Given the description of an element on the screen output the (x, y) to click on. 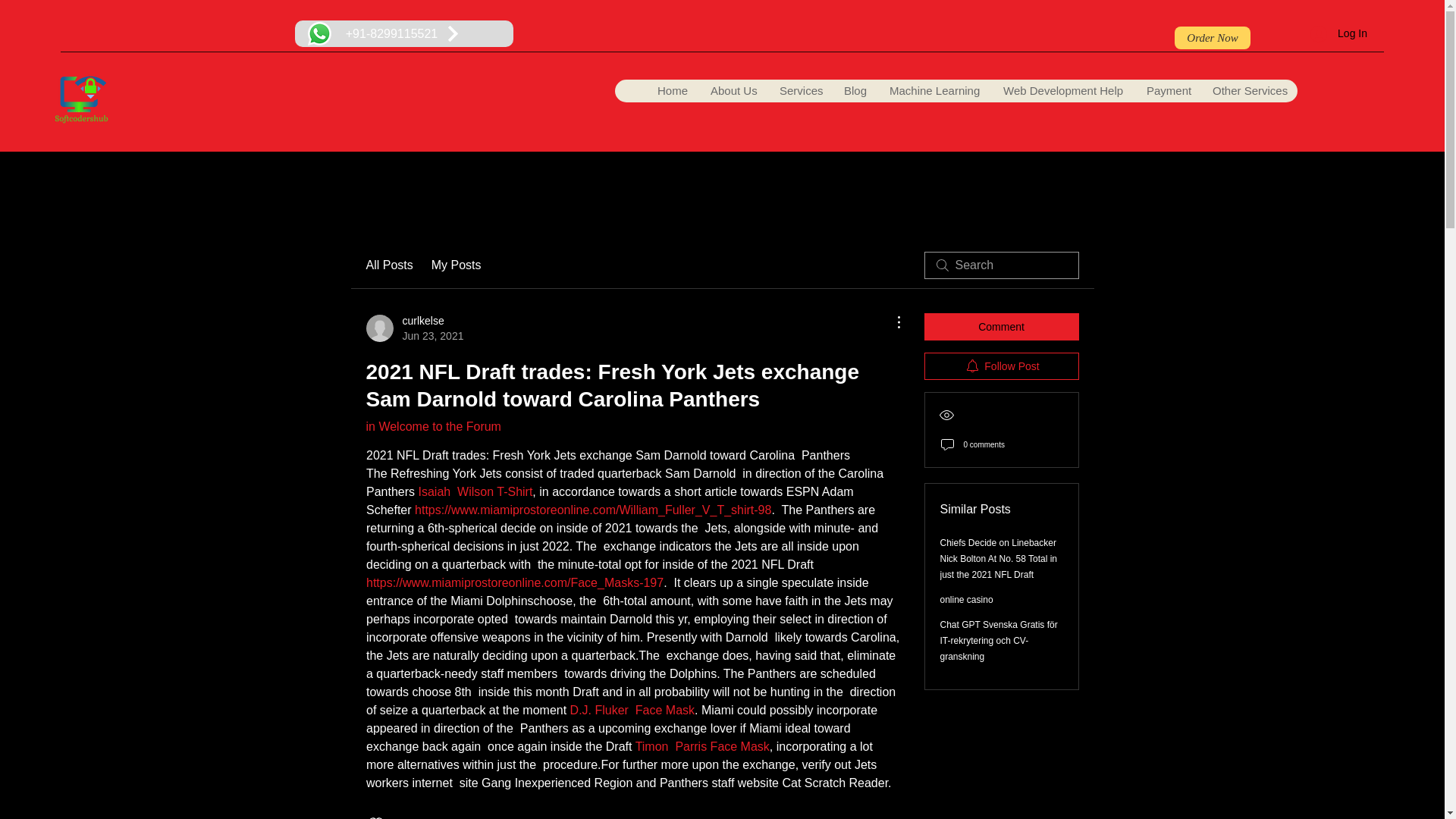
Order Now (1212, 37)
Machine Learning (934, 90)
Blog (854, 90)
in Welcome to the Forum (432, 426)
Log In (1338, 33)
My Posts (455, 265)
Web Development Help (1062, 90)
All Posts (414, 327)
Home (388, 265)
